Given the description of an element on the screen output the (x, y) to click on. 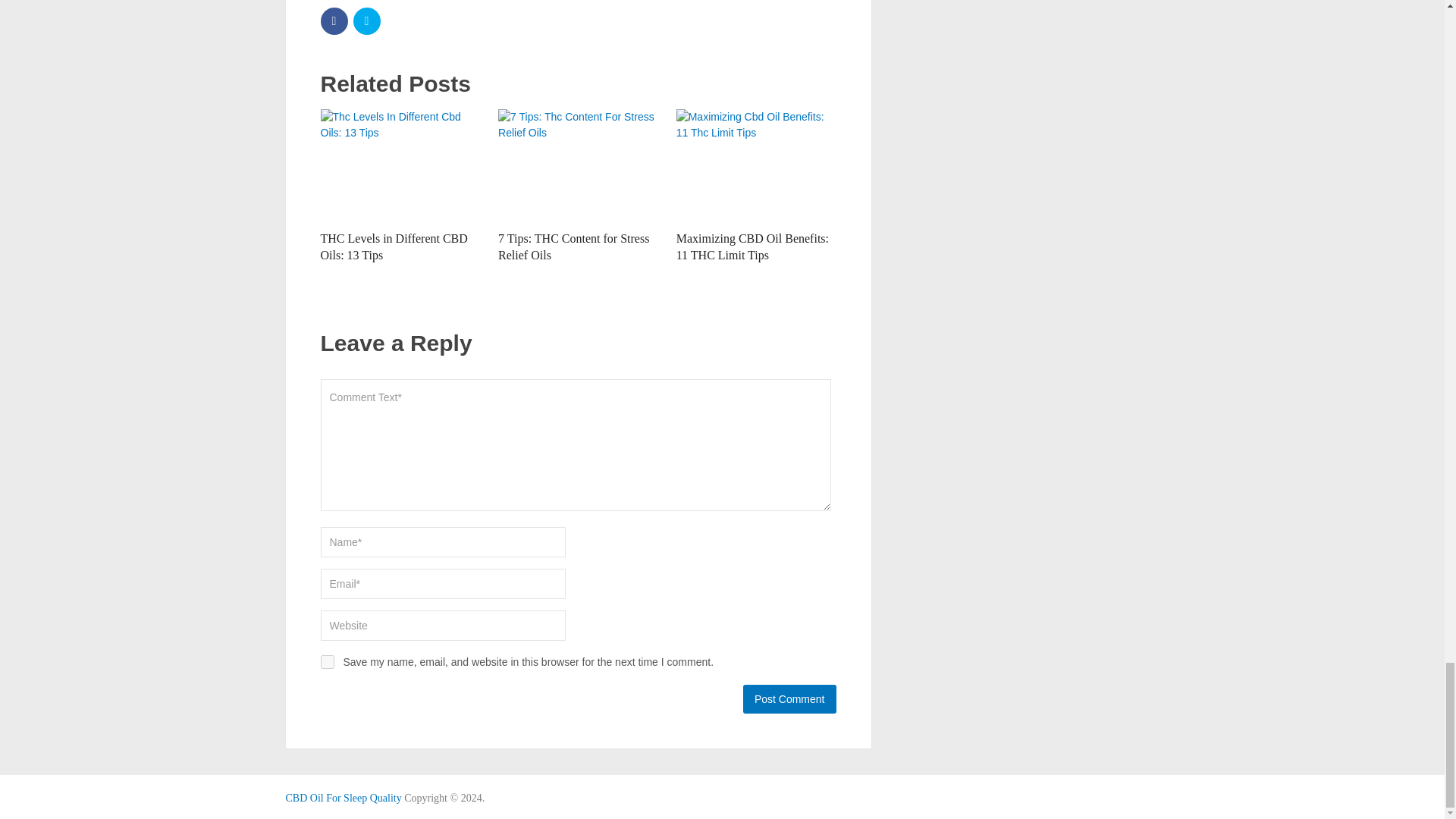
Maximizing CBD Oil Benefits: 11 THC Limit Tips (752, 246)
Maximizing CBD Oil Benefits: 11 THC Limit Tips (756, 165)
Maximizing CBD Oil Benefits: 11 THC Limit Tips (752, 246)
THC Levels in Different CBD Oils: 13 Tips (393, 246)
7 Tips: THC Content for Stress Relief Oils (573, 246)
7 Tips: THC Content for Stress Relief Oils (573, 246)
yes (326, 662)
Post Comment (788, 698)
THC Levels in Different CBD Oils: 13 Tips (400, 165)
Post Comment (788, 698)
7 Tips: THC Content for Stress Relief Oils (577, 165)
THC Levels in Different CBD Oils: 13 Tips (393, 246)
